Given the description of an element on the screen output the (x, y) to click on. 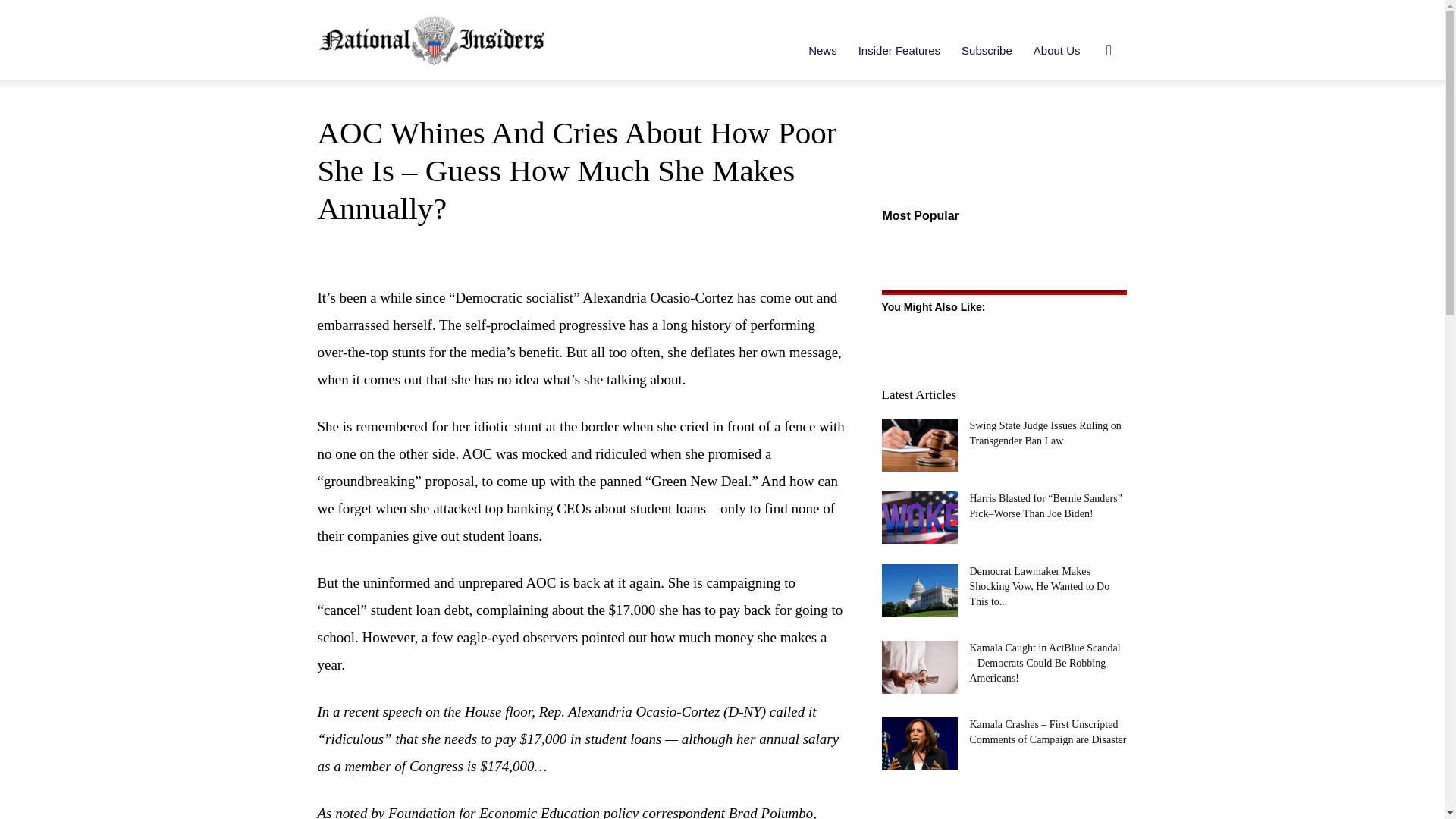
Insider Features (898, 50)
Swing State Judge Issues Ruling on Transgender Ban Law (918, 444)
National Insiders (430, 39)
About Us (1056, 50)
Swing State Judge Issues Ruling on Transgender Ban Law (1045, 433)
Search (1085, 122)
National Insiders (430, 39)
